Given the description of an element on the screen output the (x, y) to click on. 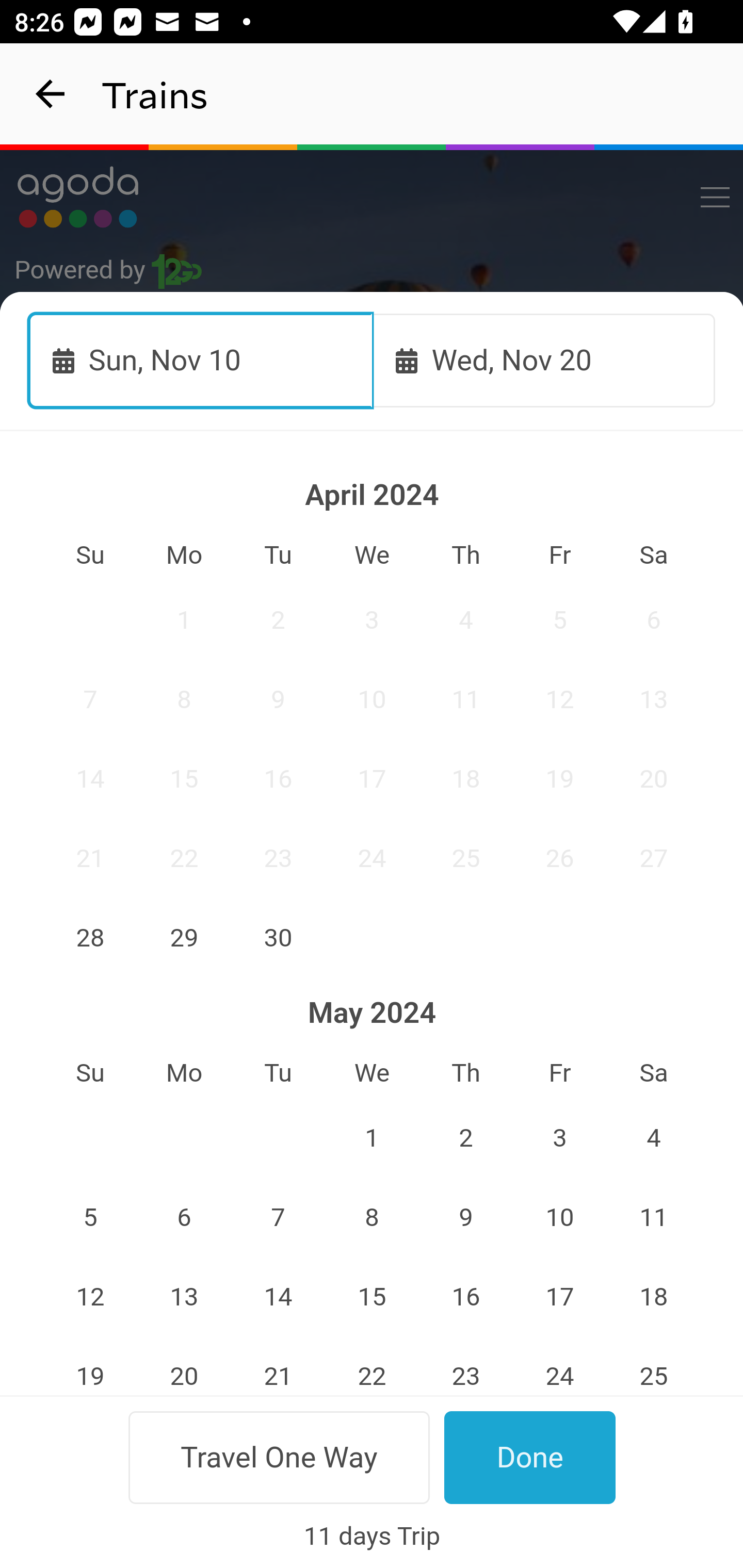
navigation_button (50, 93)
Sun, Nov 10 (200, 359)
Wed, Nov 20 (544, 359)
1 (184, 620)
2 (278, 620)
3 (372, 620)
4 (465, 620)
5 (559, 620)
6 (654, 620)
7 (90, 699)
8 (184, 699)
9 (278, 699)
10 (372, 699)
11 (465, 699)
12 (559, 699)
13 (654, 699)
14 (90, 779)
15 (184, 779)
16 (278, 779)
17 (372, 779)
18 (465, 779)
19 (559, 779)
20 (654, 779)
21 (90, 858)
22 (184, 858)
23 (278, 858)
24 (372, 858)
25 (465, 858)
26 (559, 858)
27 (654, 858)
28 (90, 937)
29 (184, 937)
30 (278, 937)
1 (372, 1138)
2 (465, 1138)
3 (559, 1138)
4 (654, 1138)
5 (90, 1218)
6 (184, 1218)
7 (278, 1218)
8 (372, 1218)
9 (465, 1218)
10 (559, 1218)
11 (654, 1218)
12 (90, 1296)
13 (184, 1296)
14 (278, 1296)
15 (372, 1296)
16 (465, 1296)
17 (559, 1296)
18 (654, 1296)
19 (90, 1365)
20 (184, 1365)
21 (278, 1365)
22 (372, 1365)
23 (465, 1365)
24 (559, 1365)
25 (654, 1365)
Travel One Way (278, 1457)
Done (530, 1457)
